Given the description of an element on the screen output the (x, y) to click on. 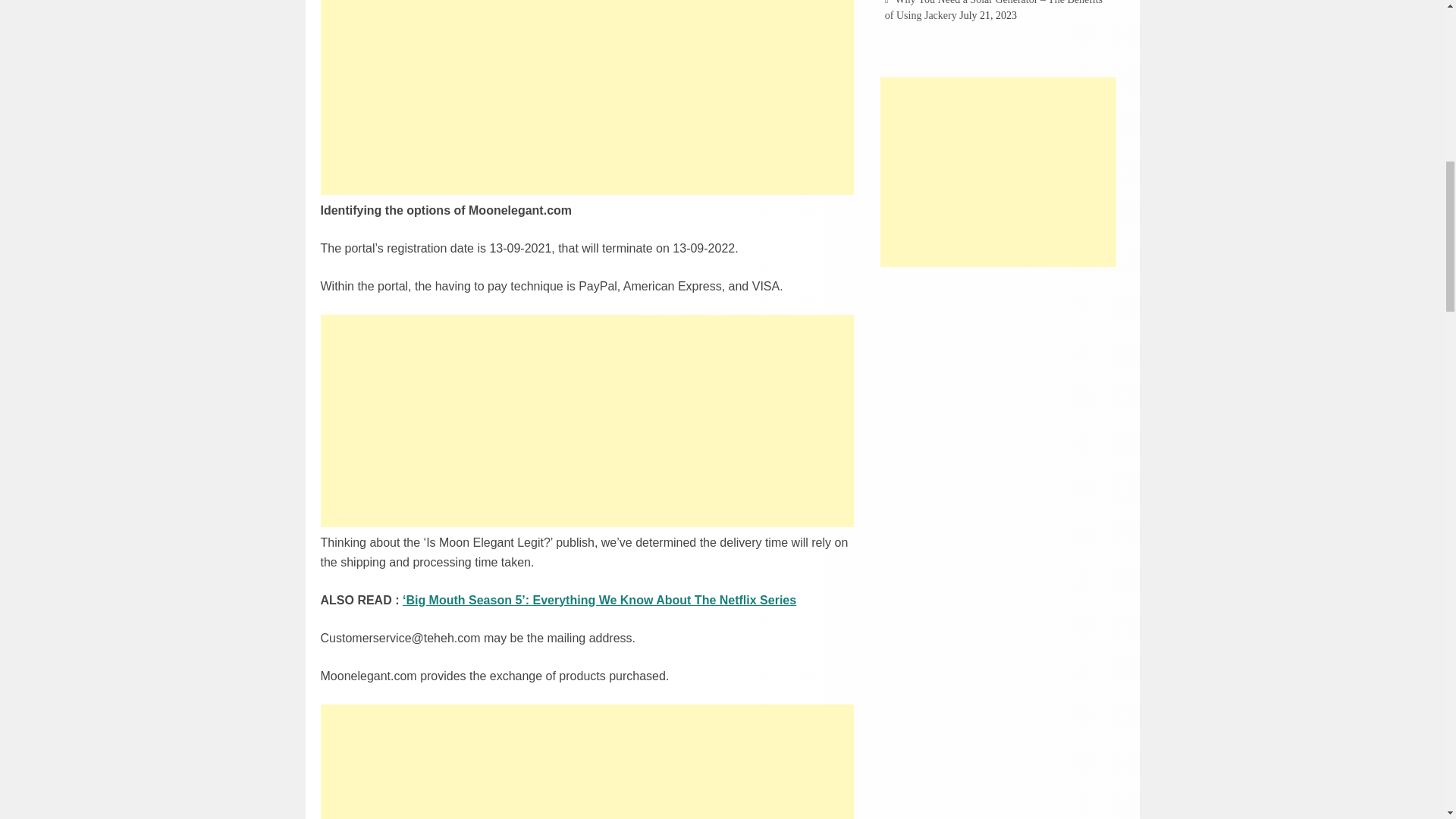
Advertisement (586, 761)
Advertisement (586, 419)
Advertisement (586, 97)
Advertisement (998, 171)
